Given the description of an element on the screen output the (x, y) to click on. 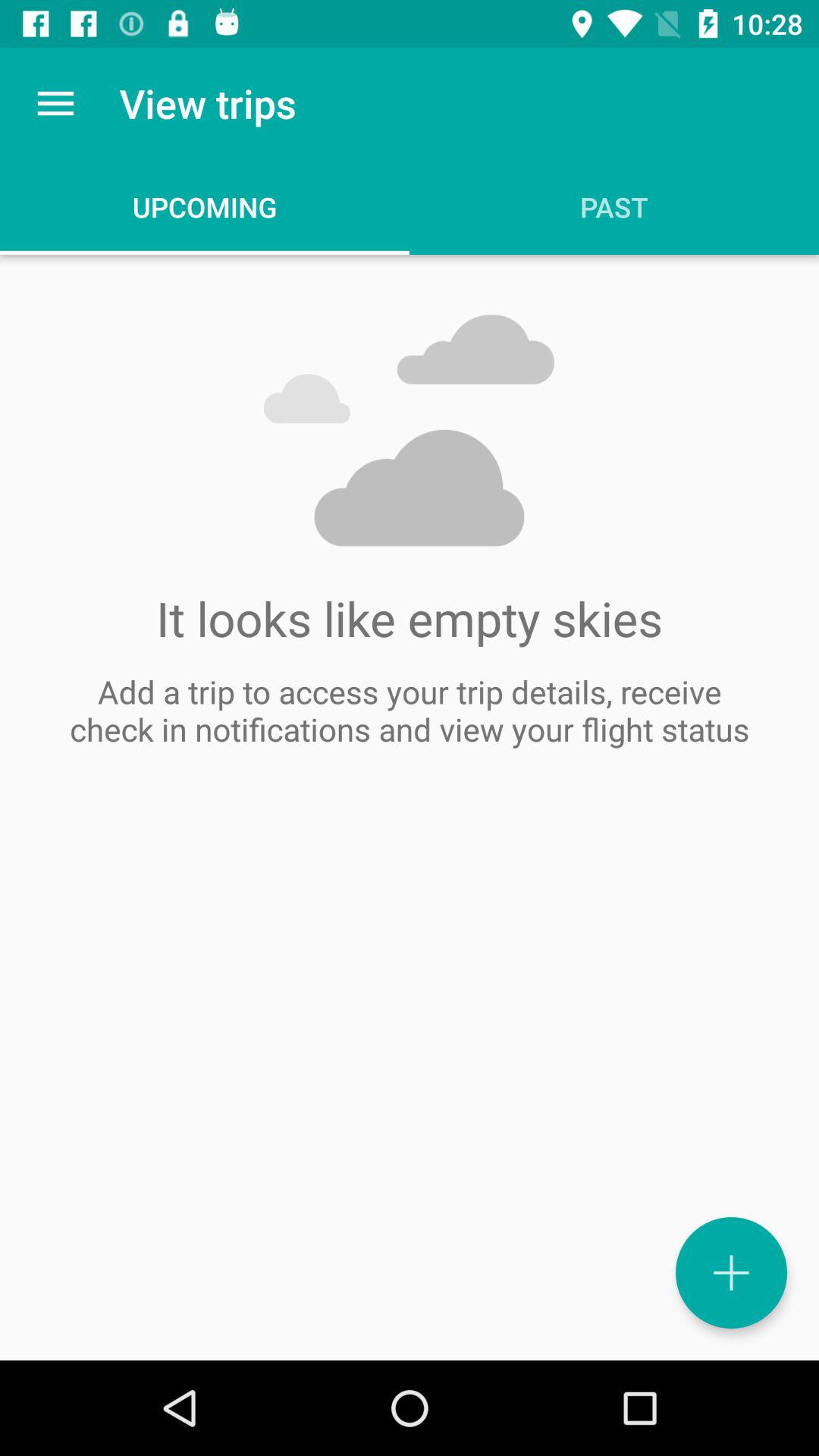
add new trip (731, 1272)
